Given the description of an element on the screen output the (x, y) to click on. 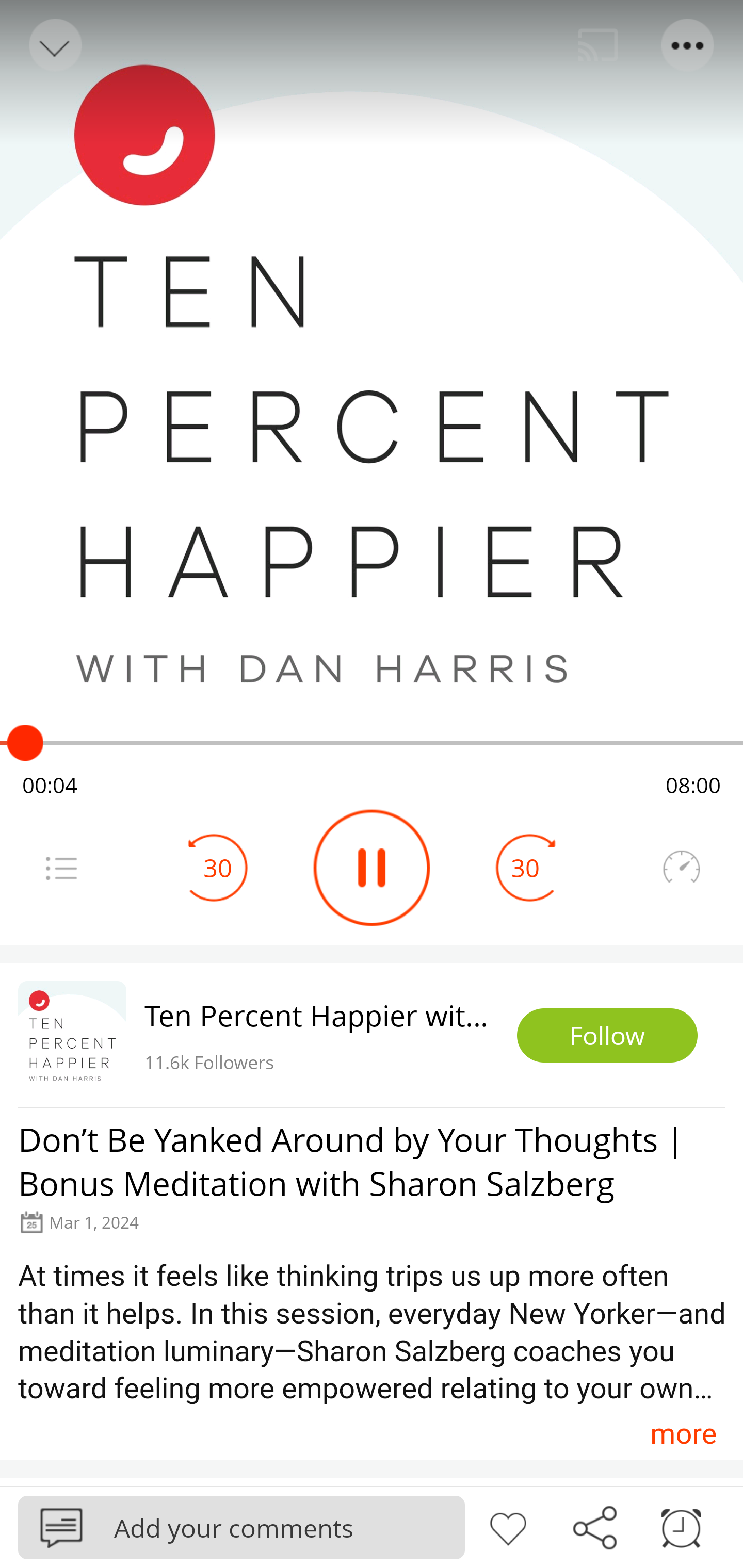
Back (53, 45)
Cast. Disconnected (597, 45)
Menu (688, 45)
Play (371, 867)
30 Seek Backward (217, 867)
30 Seek Forward (525, 867)
Menu (60, 867)
Speedometer (681, 867)
Follow (607, 1035)
more (682, 1432)
Like (508, 1526)
Share (594, 1526)
Sleep timer (681, 1526)
Podbean Add your comments (241, 1526)
